Given the description of an element on the screen output the (x, y) to click on. 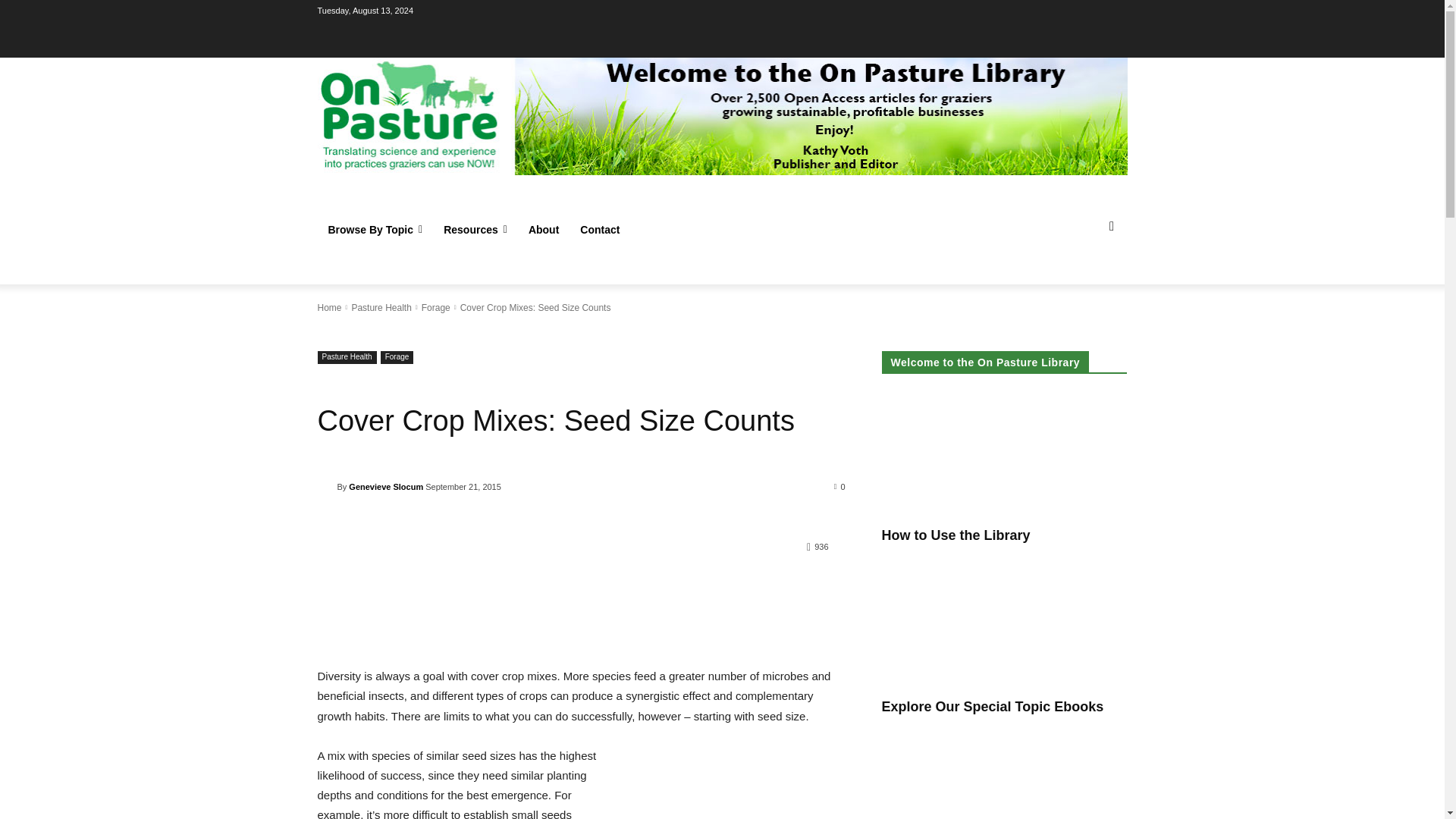
View all posts in Pasture Health (380, 307)
View all posts in Forage (435, 307)
Genevieve Slocum (326, 486)
